Given the description of an element on the screen output the (x, y) to click on. 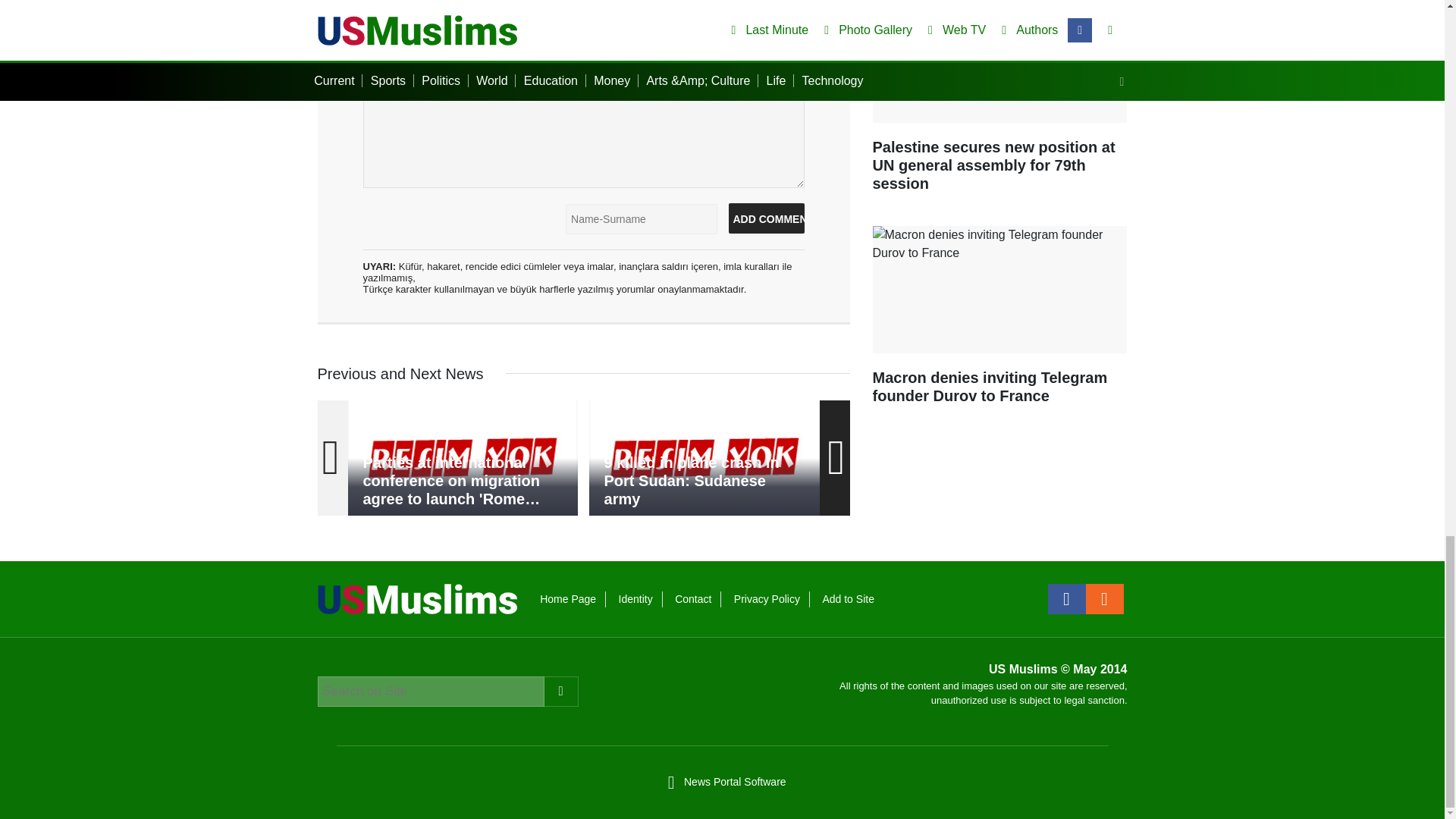
Contact (693, 598)
Privacy Policy (766, 598)
9 killed in plane crash in Port Sudan: Sudanese army (704, 457)
Home Page (567, 598)
Privacy Policy (766, 598)
US Muslims (416, 597)
ADD COMMENT (765, 218)
Identity (635, 598)
Identity (635, 598)
Add to Site (848, 598)
